Given the description of an element on the screen output the (x, y) to click on. 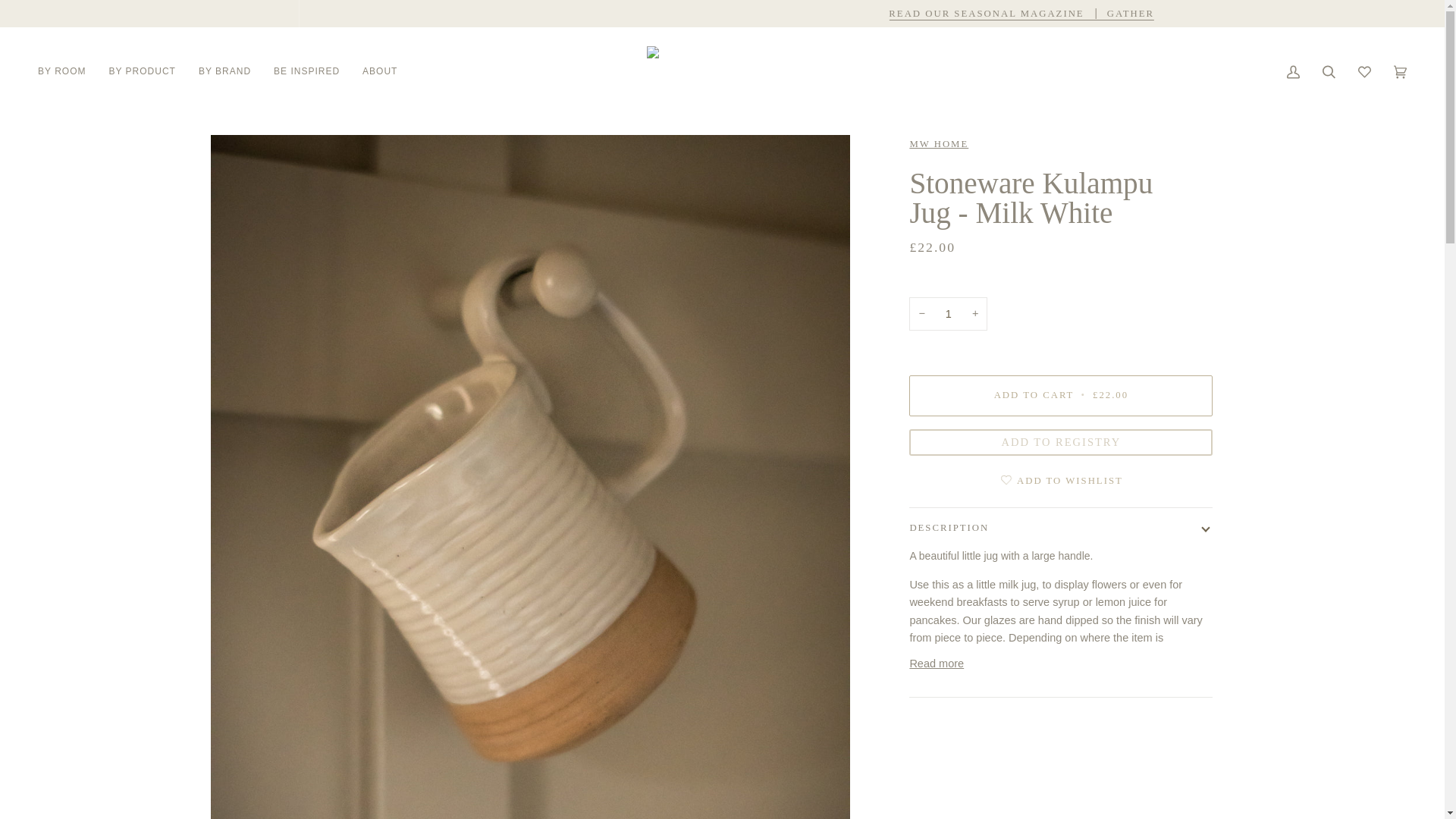
READ OUR SEASONAL MAGAZINE    GATHER (1021, 13)
Gather Magazine (1021, 13)
1 (947, 314)
